Given the description of an element on the screen output the (x, y) to click on. 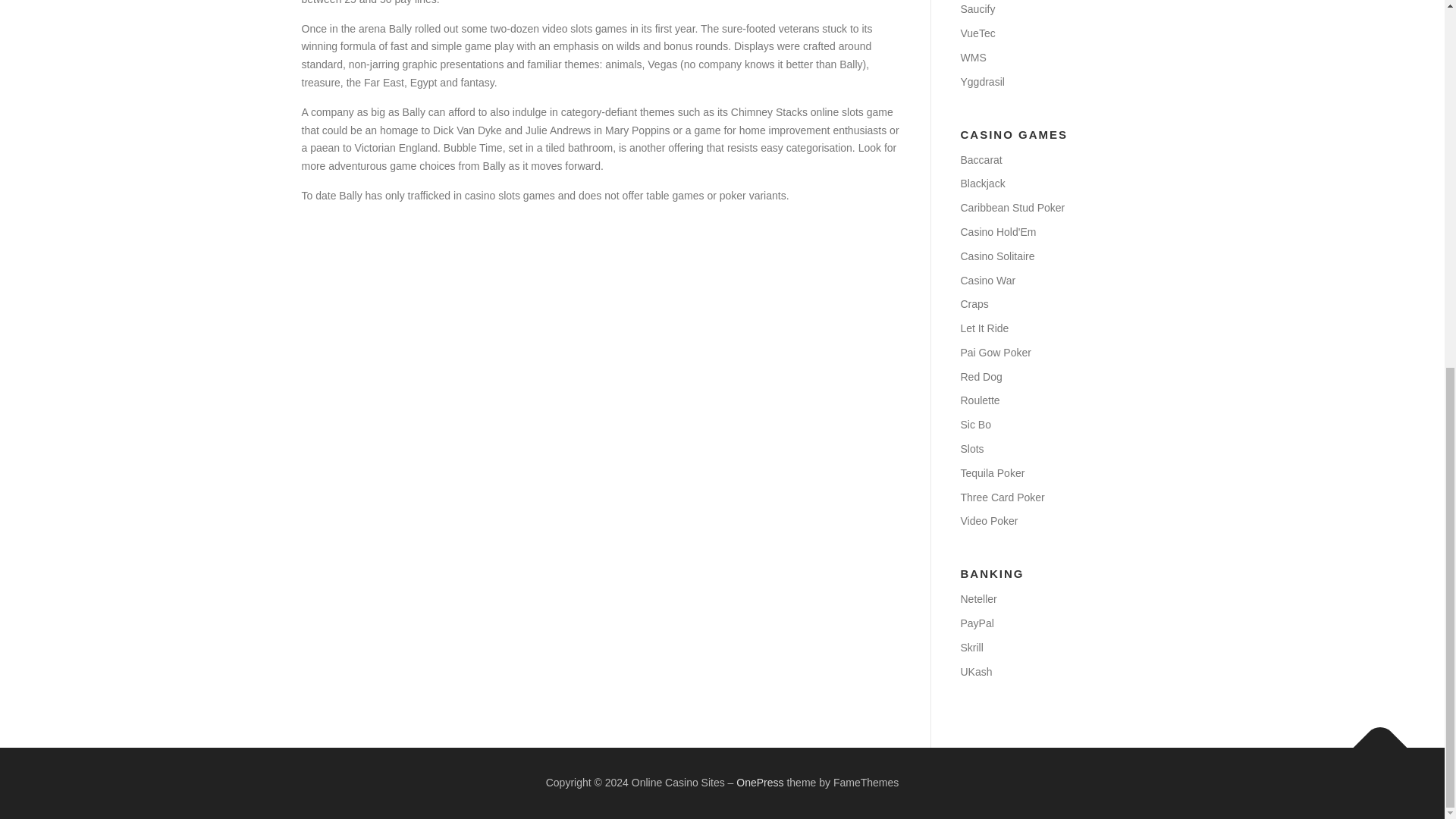
Baccarat (980, 159)
Yggdrasil (981, 81)
VueTec (976, 33)
Caribbean Stud Poker (1011, 207)
WMS (972, 57)
Saucify (976, 9)
Back To Top (1372, 740)
Blackjack (981, 183)
